Given the description of an element on the screen output the (x, y) to click on. 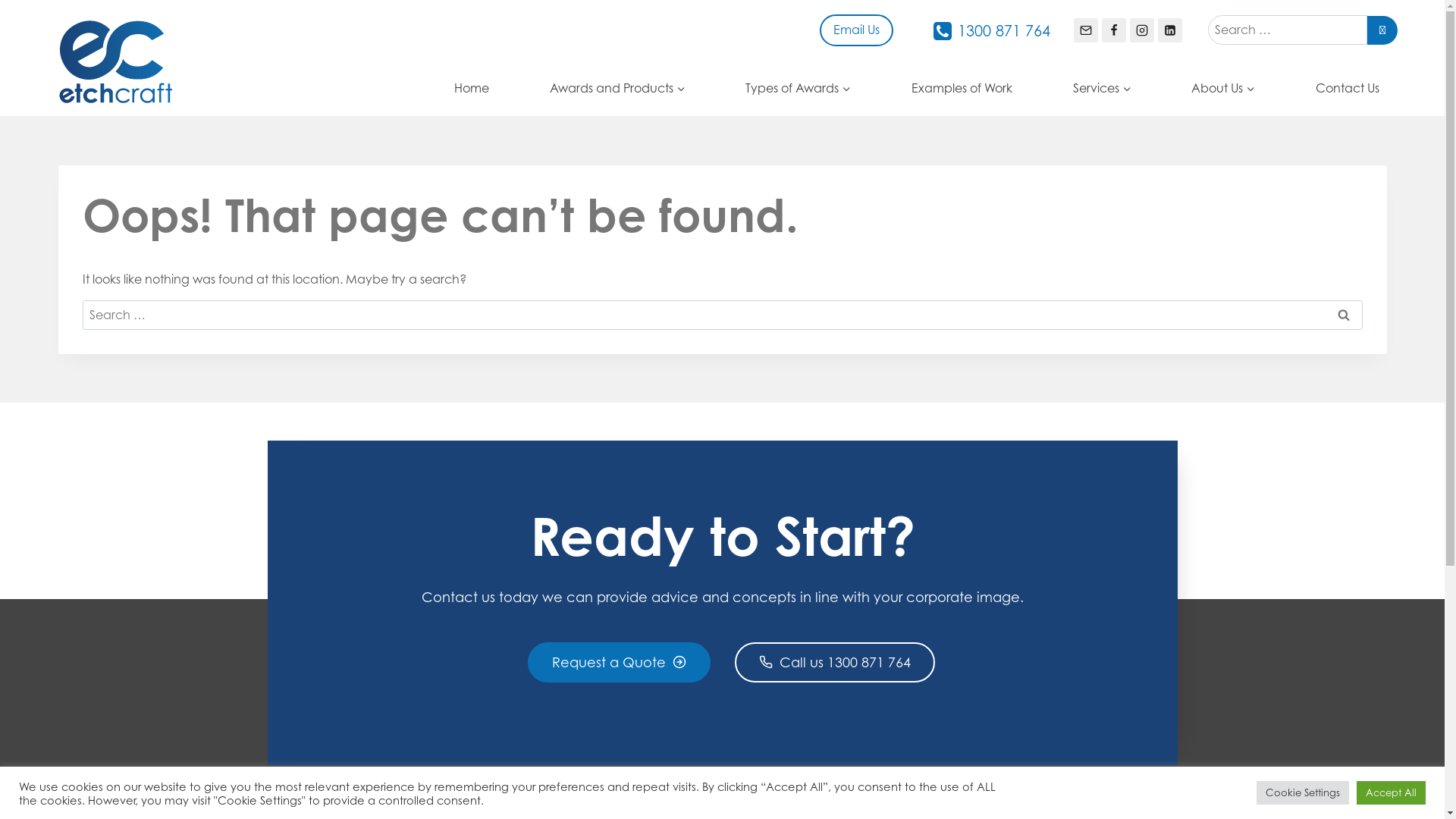
Email Us Element type: text (856, 29)
Request a Quote Element type: text (618, 662)
Accept All Element type: text (1390, 792)
Services Element type: text (1101, 88)
Contact Us Element type: text (1347, 88)
1300 871 764 Element type: text (990, 30)
Types of Awards Element type: text (798, 88)
Search Element type: text (1342, 314)
Cookie Settings Element type: text (1302, 792)
About Us Element type: text (1223, 88)
Examples of Work Element type: text (961, 88)
Awards and Products Element type: text (617, 88)
Home Element type: text (470, 88)
Call us 1300 871 764 Element type: text (834, 662)
